Given the description of an element on the screen output the (x, y) to click on. 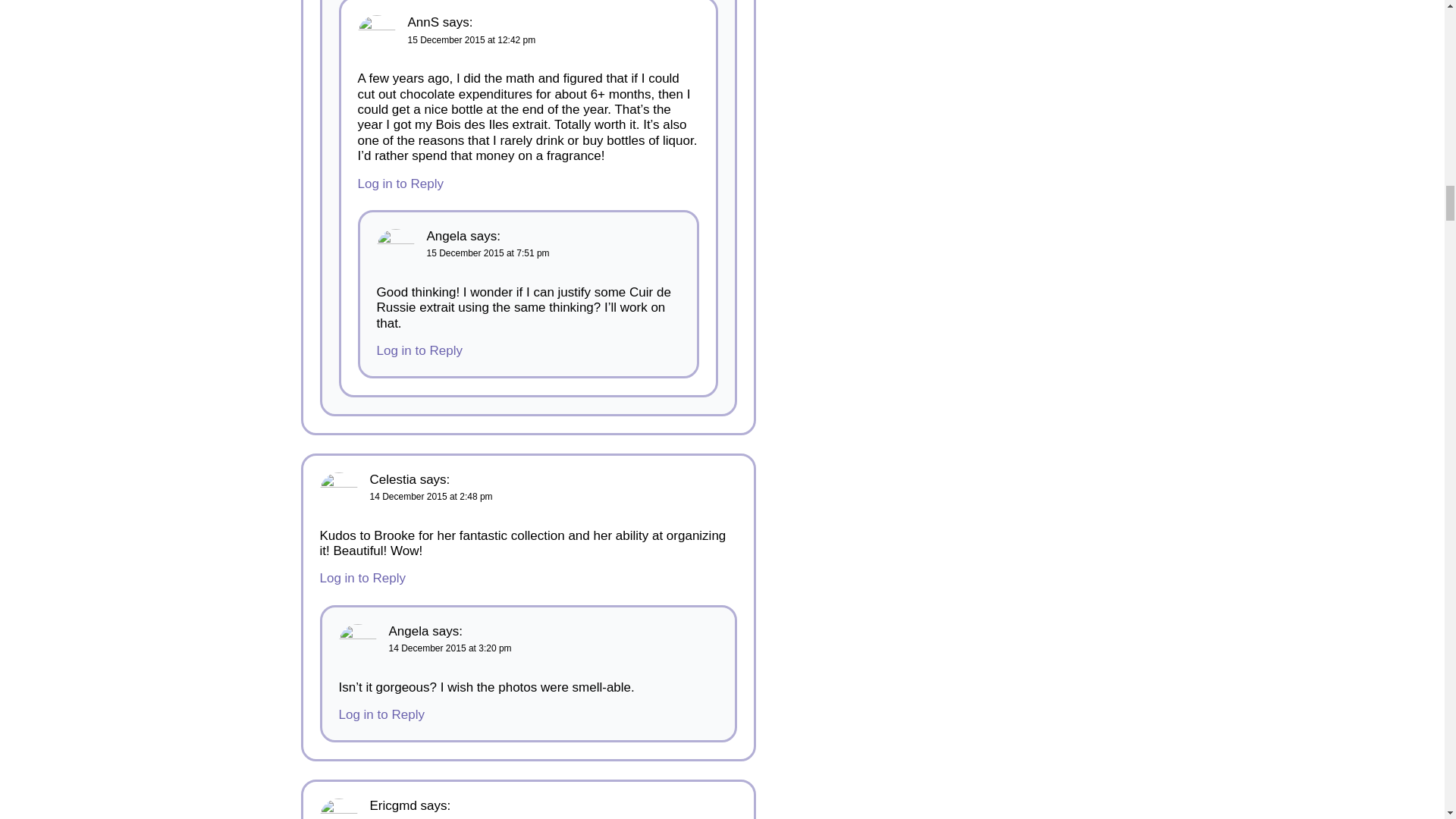
Log in to Reply (401, 183)
Log in to Reply (380, 714)
Log in to Reply (363, 577)
Log in to Reply (418, 350)
